Given the description of an element on the screen output the (x, y) to click on. 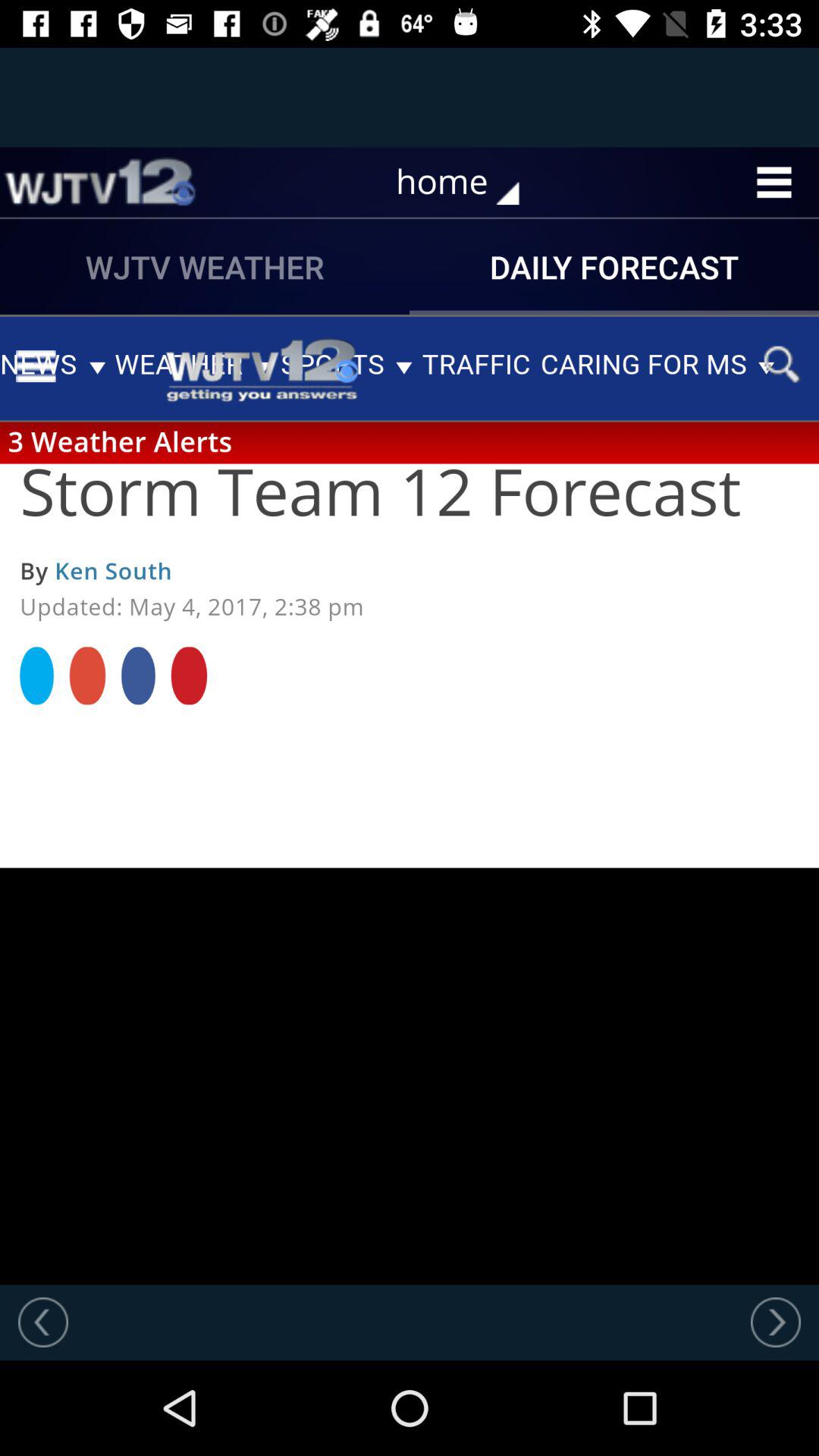
go next (775, 1322)
